Given the description of an element on the screen output the (x, y) to click on. 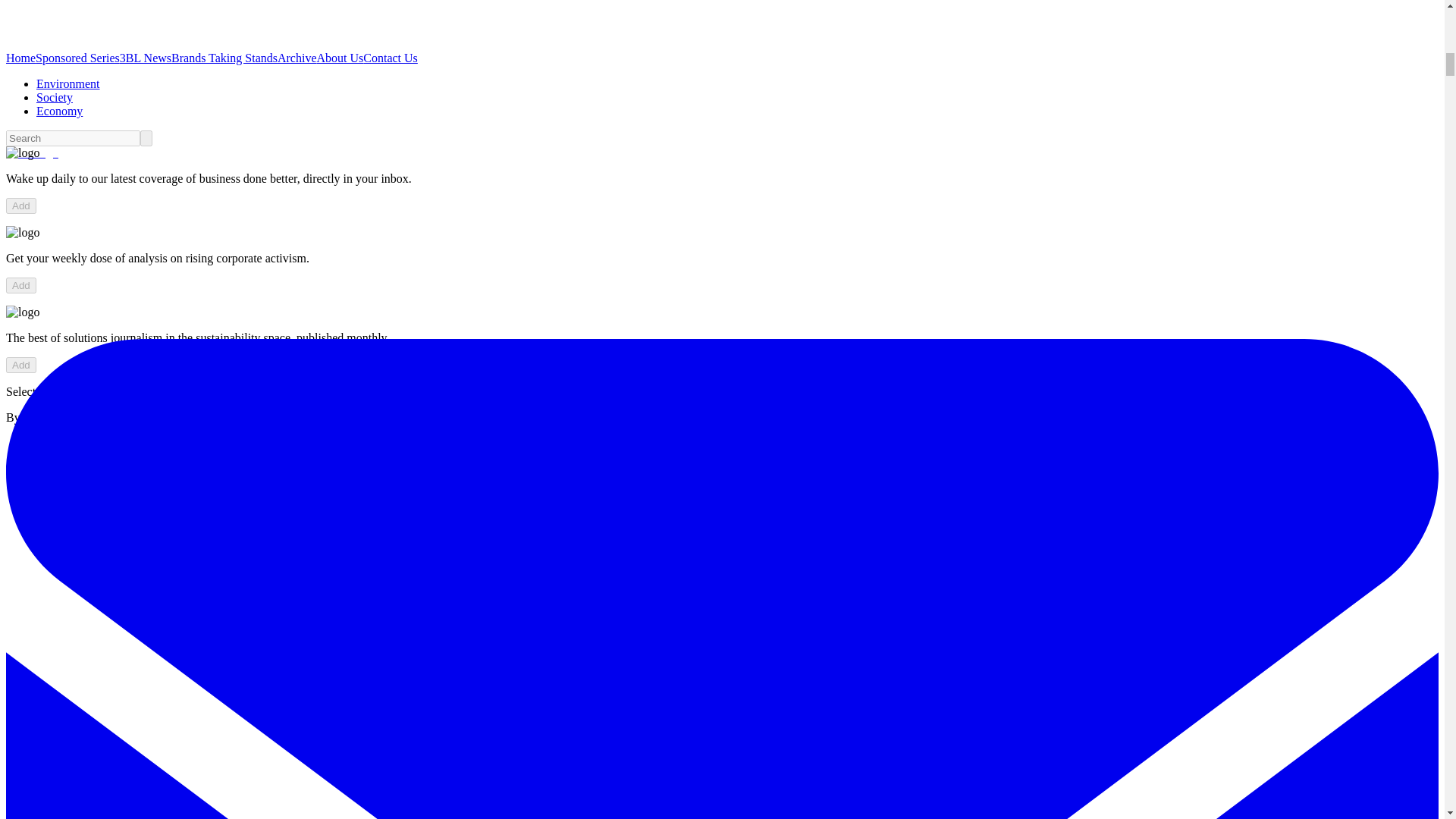
Economy (59, 110)
Add (20, 365)
privacy policy (193, 417)
Add (20, 285)
Add (20, 205)
3BL News (145, 57)
Environment (68, 83)
Society (54, 97)
Brands Taking Stands (224, 57)
Contact Us (389, 57)
